Given the description of an element on the screen output the (x, y) to click on. 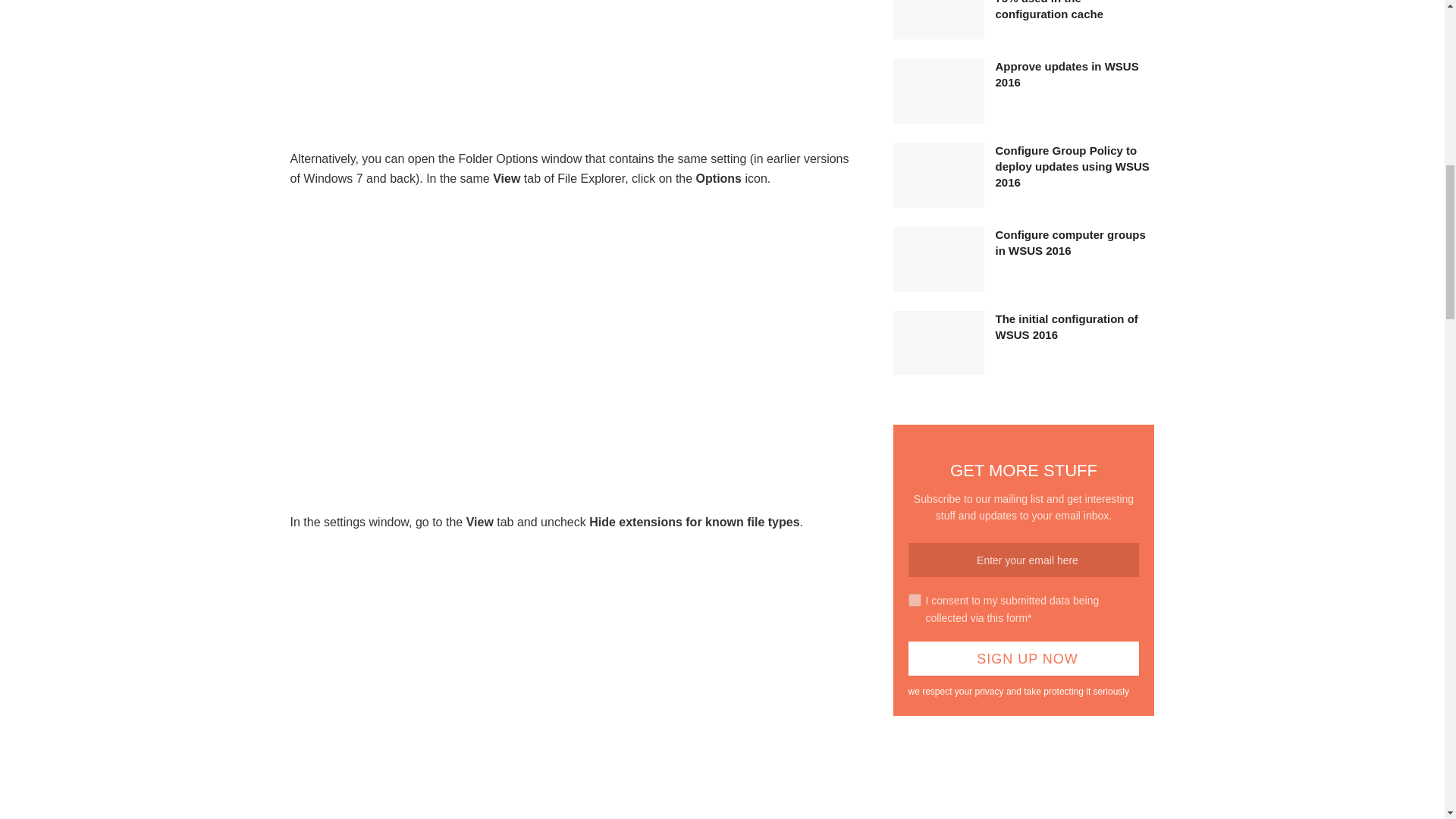
Sign Up Now (1024, 658)
Enter your email here (1024, 559)
on (914, 599)
